Given the description of an element on the screen output the (x, y) to click on. 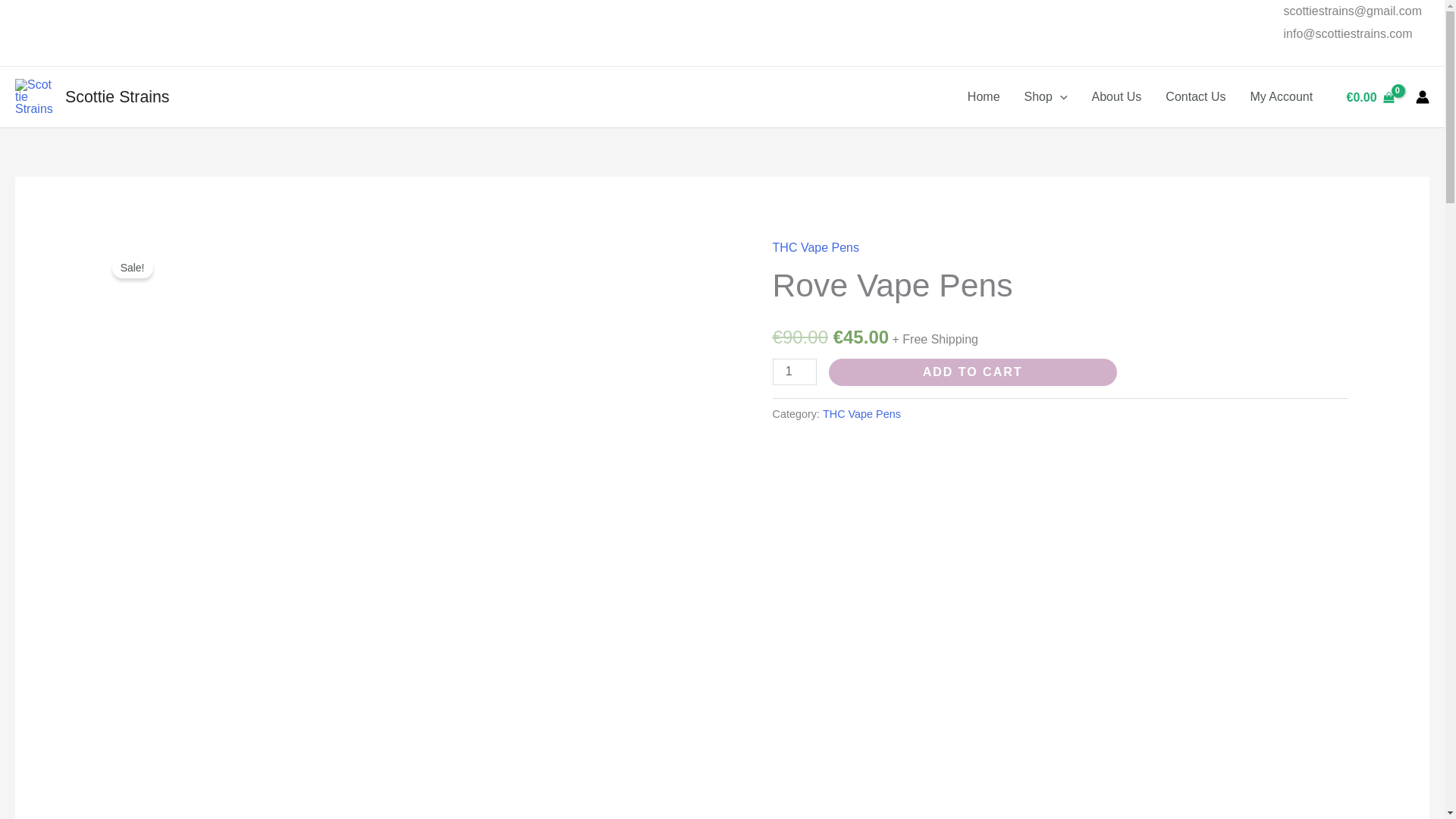
About Us (1117, 96)
My Account (1280, 96)
Home (983, 96)
1 (794, 371)
Shop (1045, 96)
Contact Us (1195, 96)
Scottie Strains (117, 96)
